Given the description of an element on the screen output the (x, y) to click on. 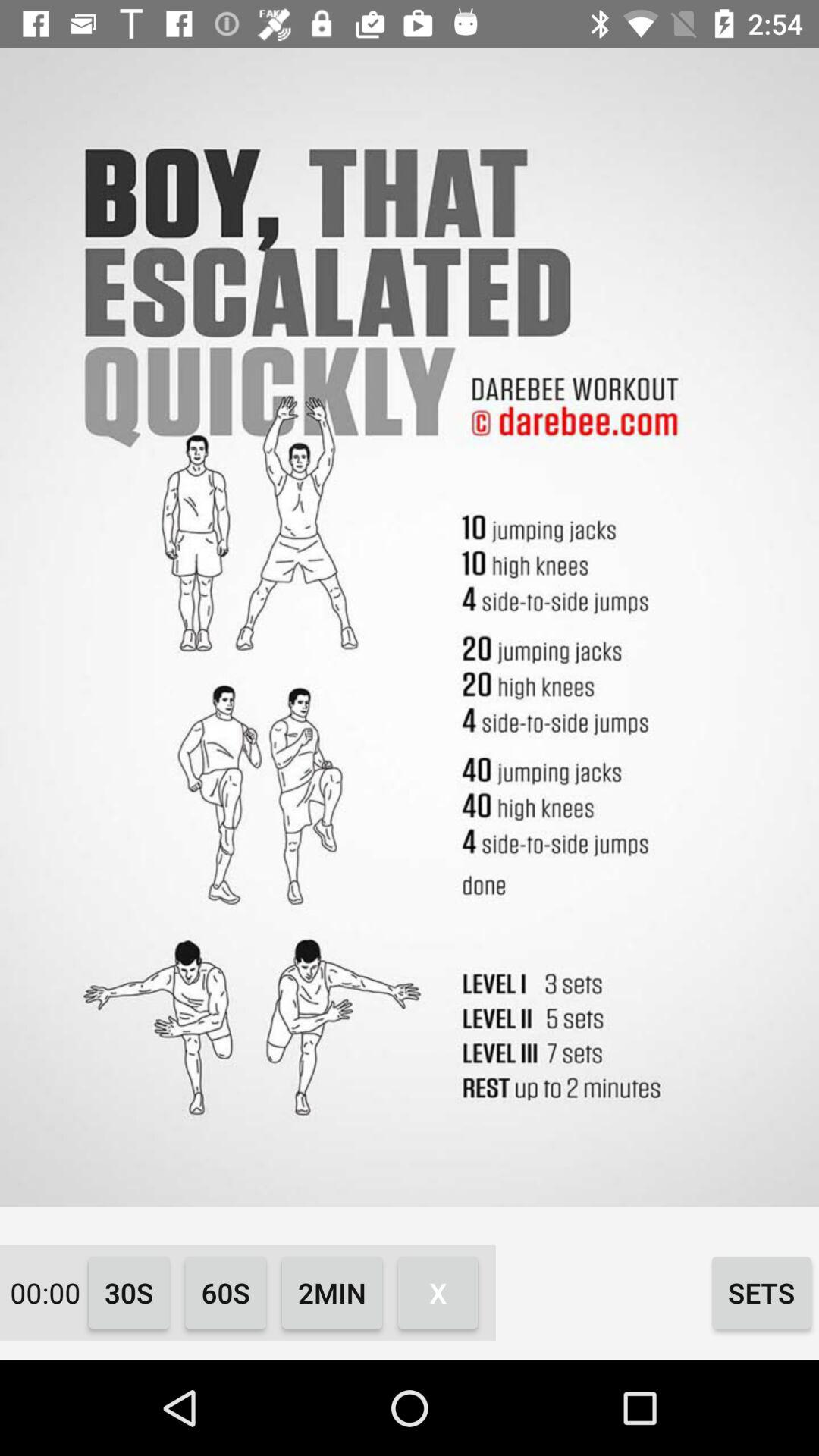
tap icon to the right of 60s icon (332, 1292)
